Given the description of an element on the screen output the (x, y) to click on. 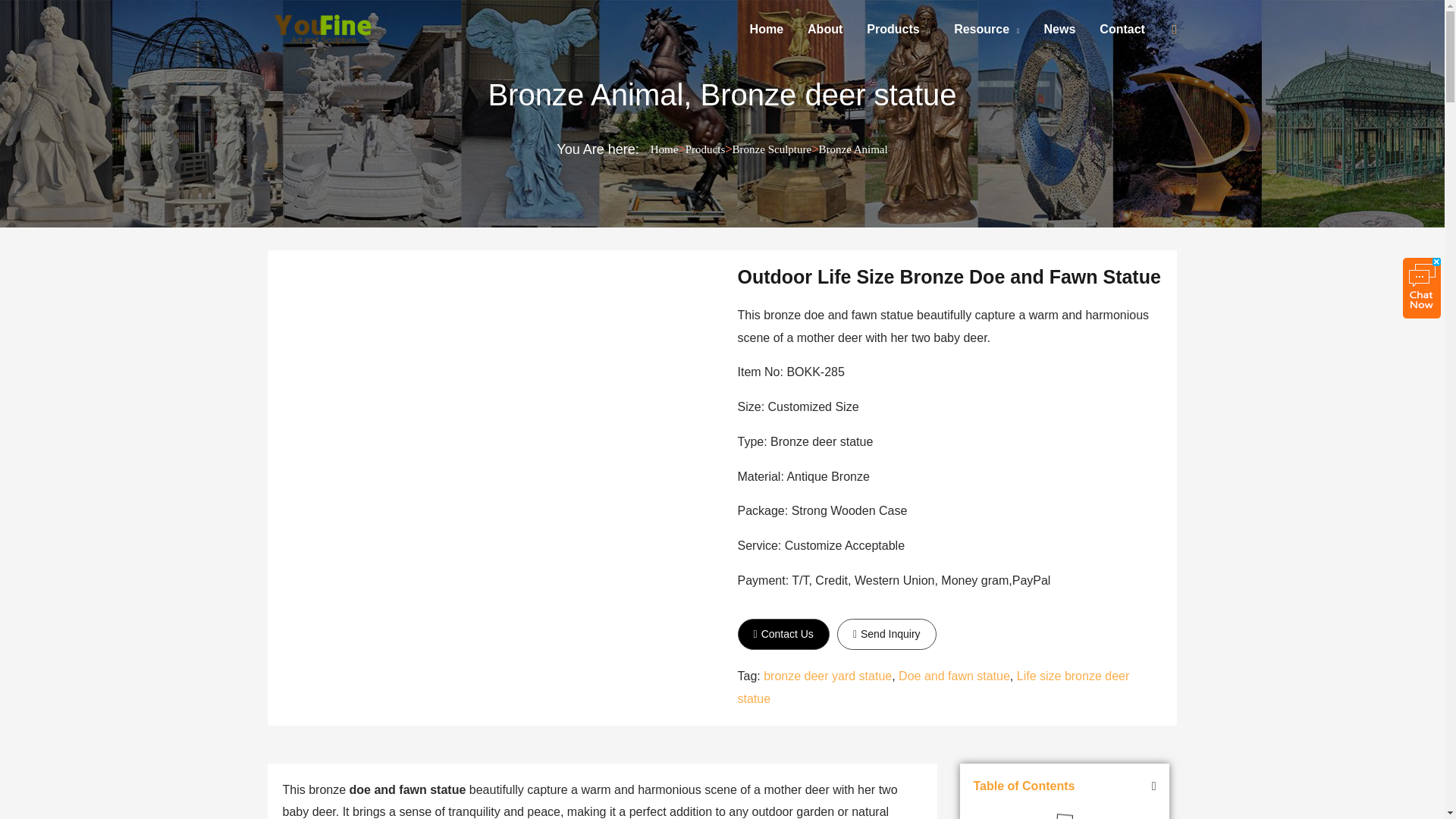
Home (766, 29)
About (824, 29)
Products (898, 29)
